Given the description of an element on the screen output the (x, y) to click on. 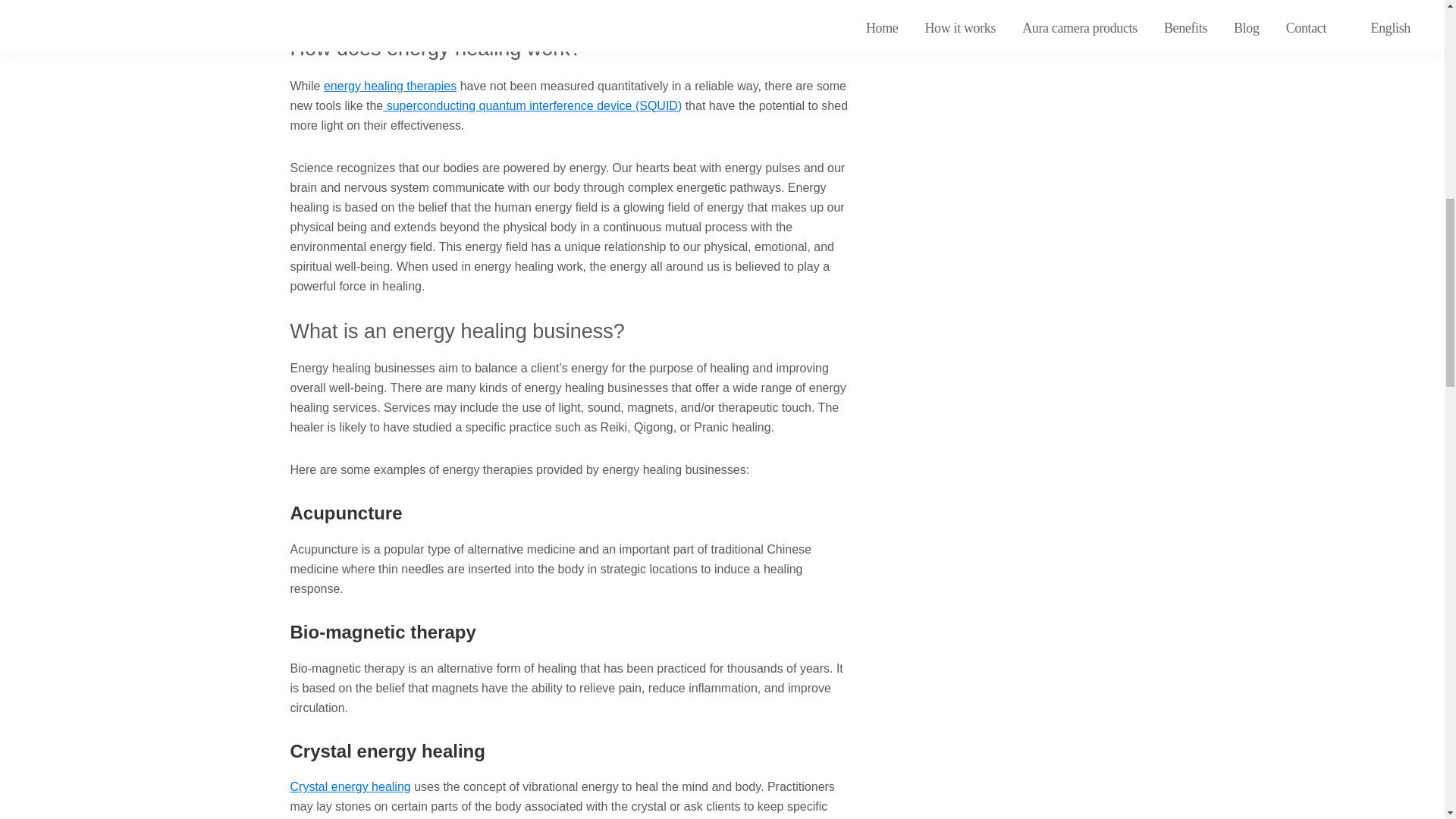
Crystal energy healing (349, 786)
energy healing therapies (390, 85)
